Given the description of an element on the screen output the (x, y) to click on. 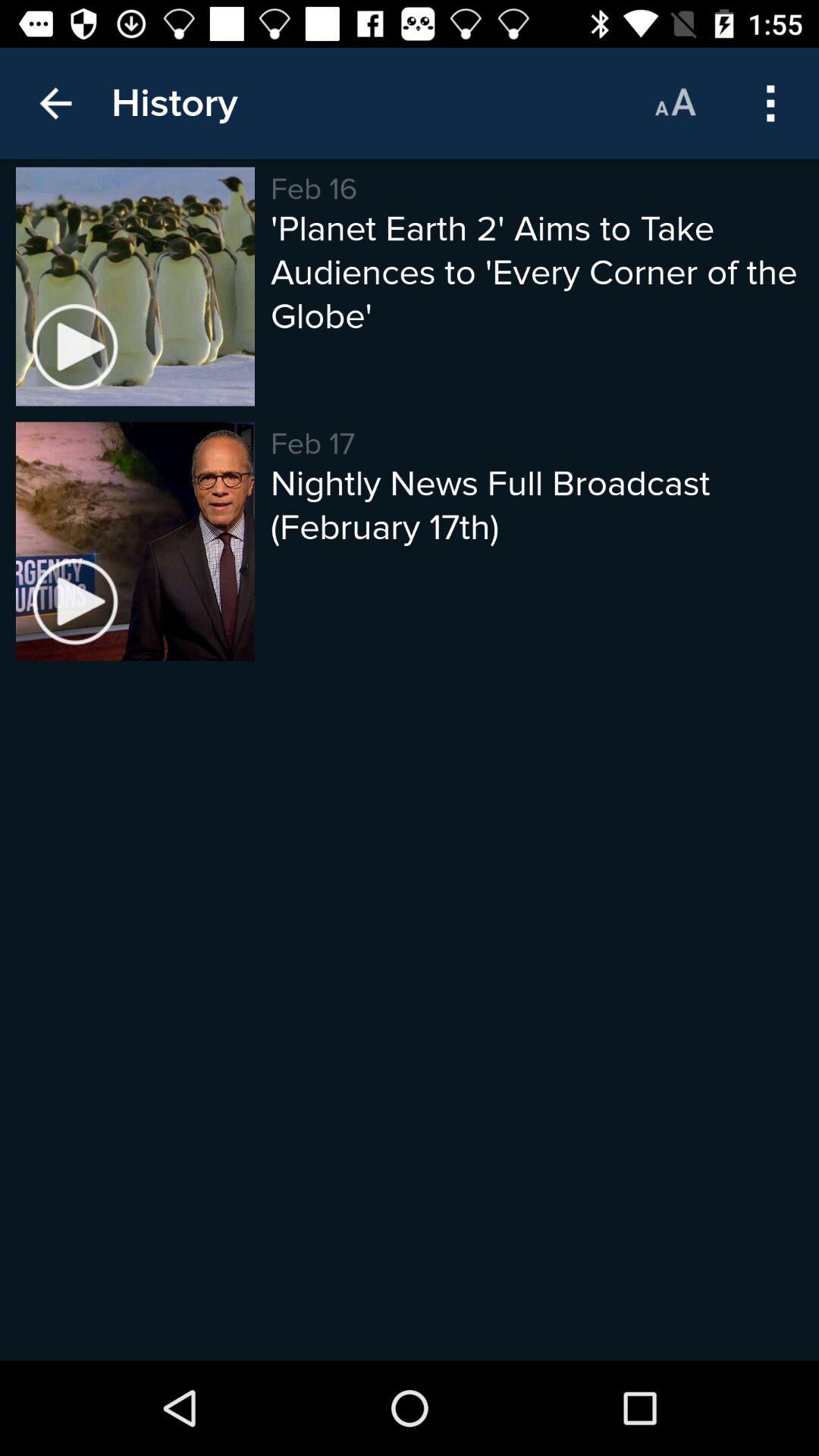
turn off icon next to the history icon (55, 103)
